Given the description of an element on the screen output the (x, y) to click on. 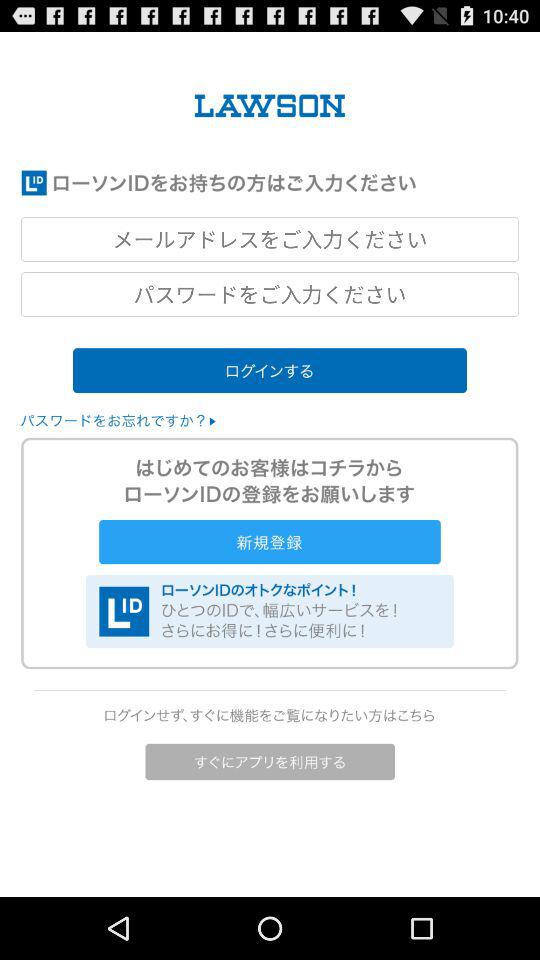
type box (270, 239)
